Given the description of an element on the screen output the (x, y) to click on. 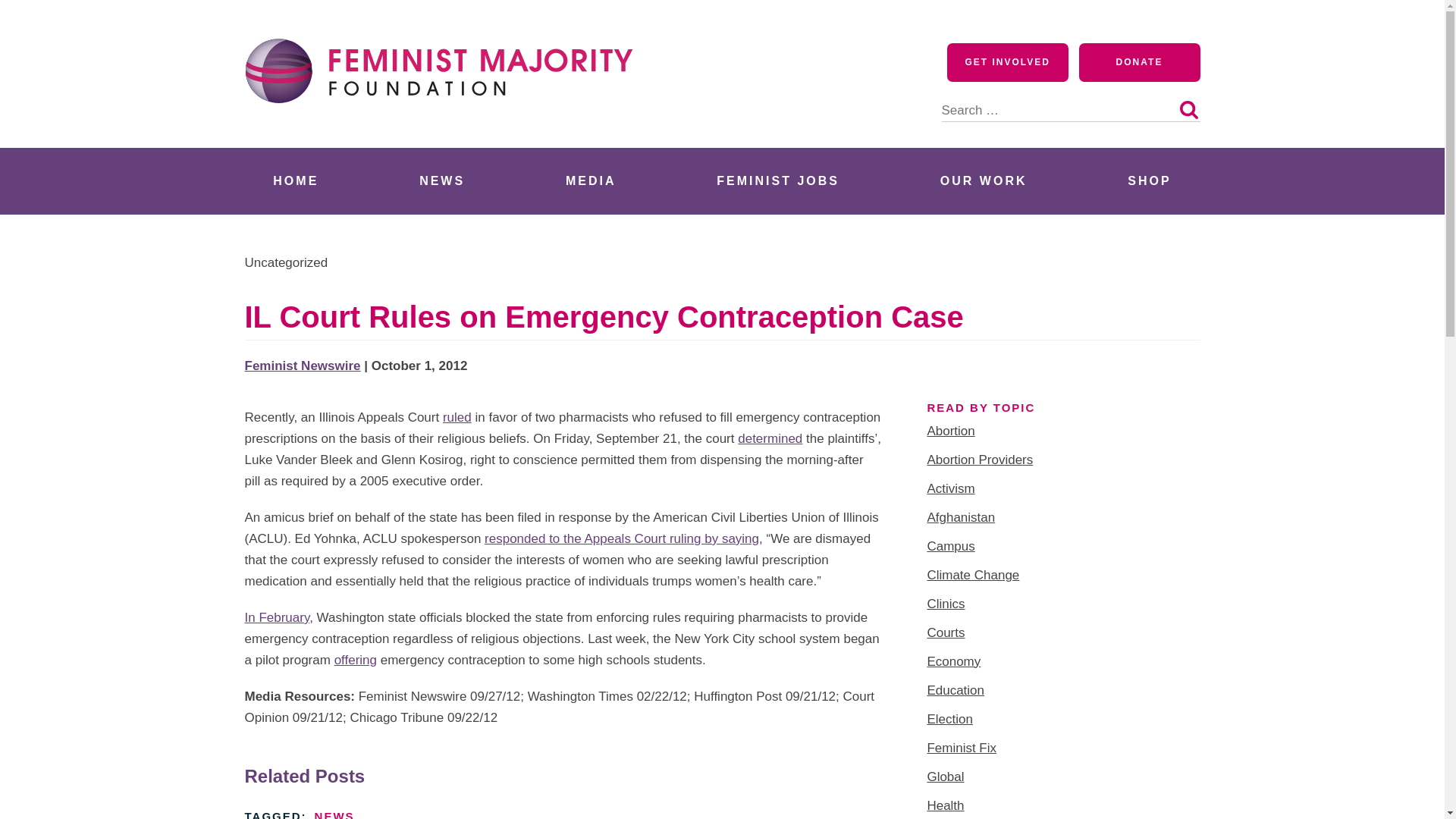
Feminist Majority Foundation (445, 130)
DONATE (1138, 62)
Feminist Newswire (301, 365)
NEWS (441, 181)
Afghanistan (960, 517)
determined (770, 438)
GET INVOLVED (1007, 62)
In February (276, 617)
HOME (295, 181)
offering (355, 659)
